Given the description of an element on the screen output the (x, y) to click on. 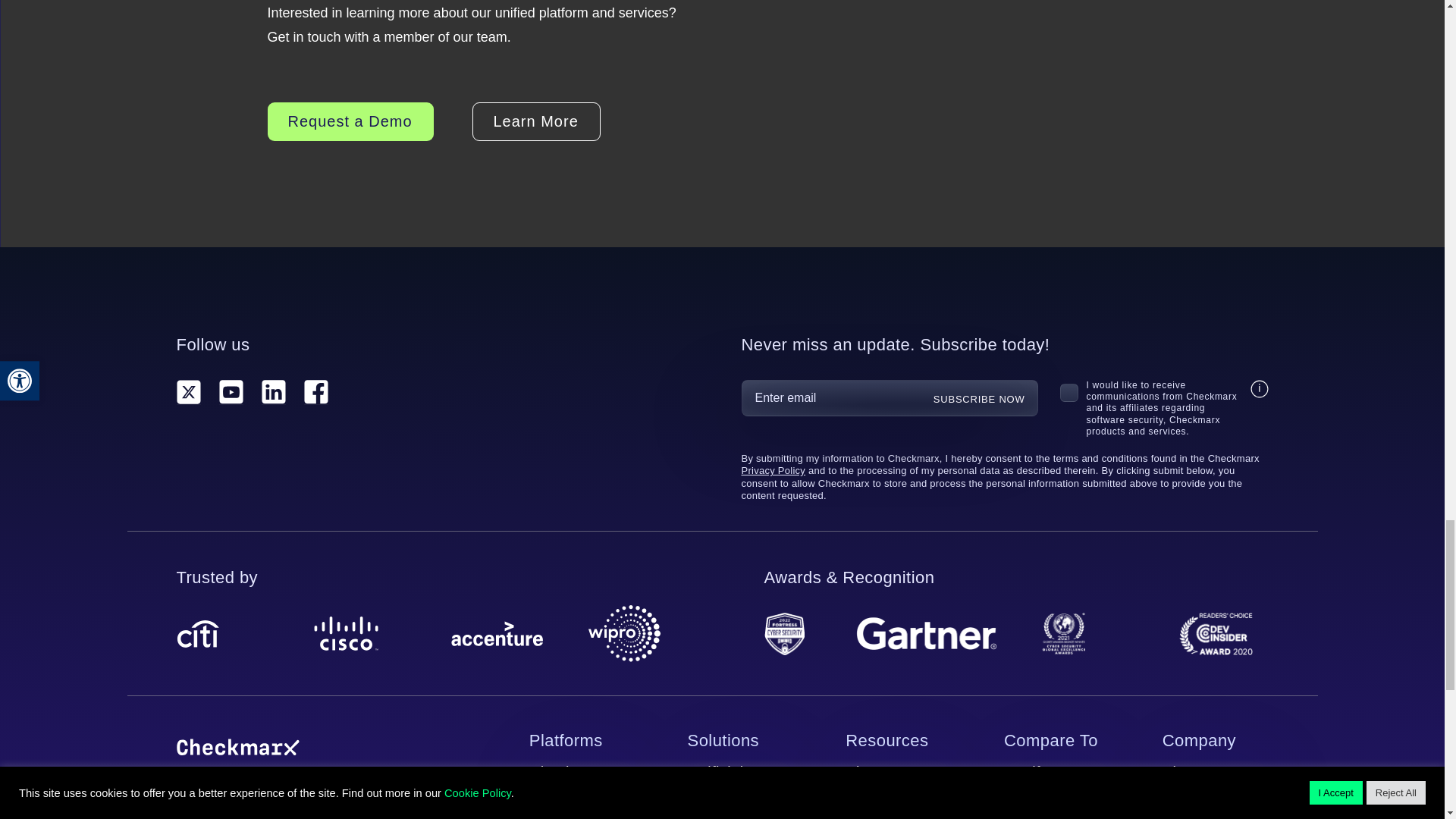
Subscribe Now (979, 399)
